Given the description of an element on the screen output the (x, y) to click on. 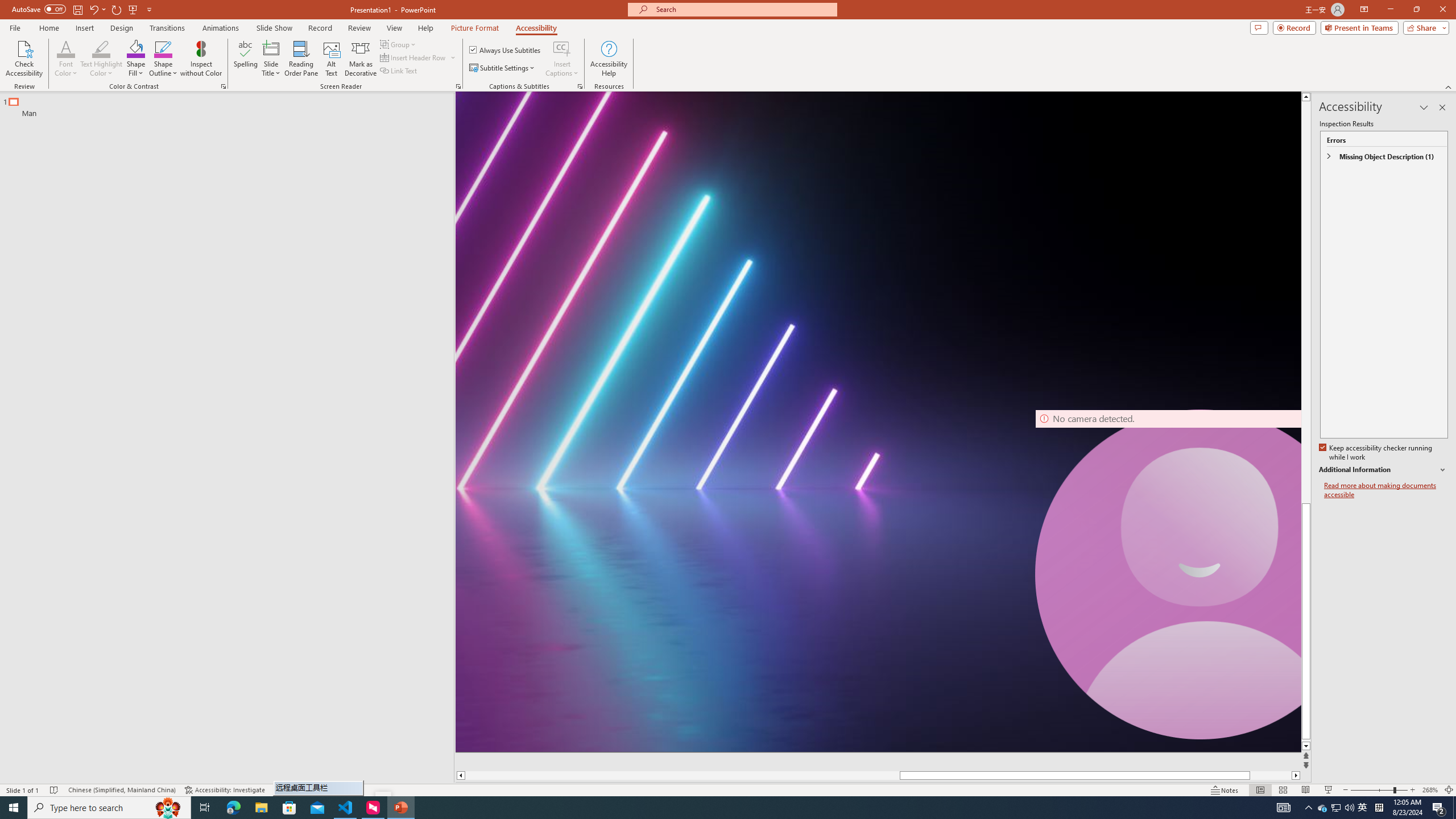
Shape Fill (135, 58)
Insert Captions (561, 48)
Shape Outline (163, 58)
Screen Reader (458, 85)
Link Text (399, 69)
Close pane (1441, 107)
Captions & Subtitles (580, 85)
Spell Check No Errors (54, 790)
